Given the description of an element on the screen output the (x, y) to click on. 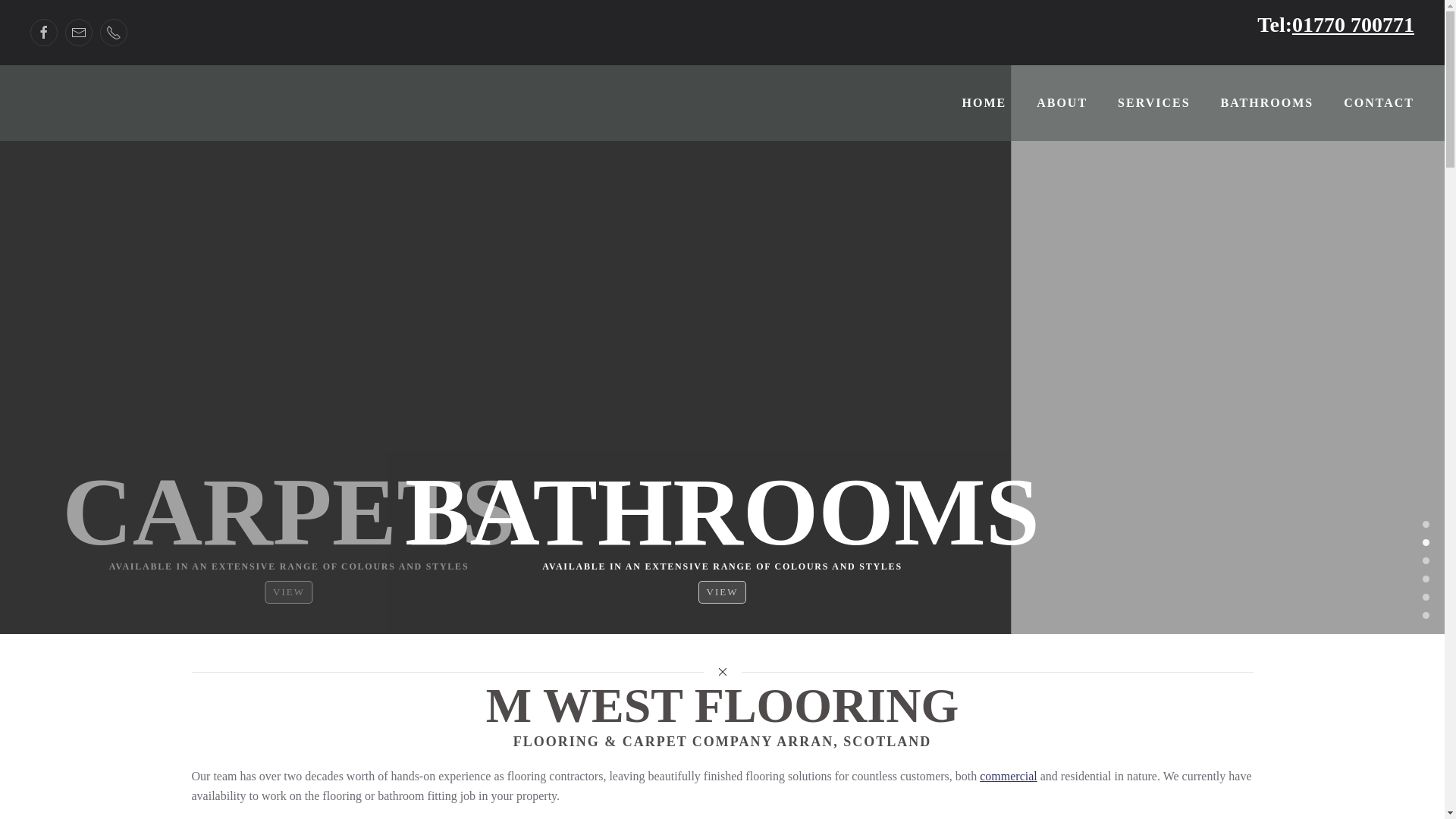
WOOD FLOORING (1425, 595)
CONTACT (1378, 102)
CARPETS (1425, 523)
COMMERCIAL FLOORING (1425, 614)
SERVICES (1153, 102)
VIEW (722, 591)
VIEW (288, 591)
BATHROOMS (1425, 541)
VINYL (1425, 559)
ABOUT (1062, 102)
BATHROOMS (1267, 102)
LAMINATES (1425, 577)
HOME (984, 102)
commercial (1007, 775)
01770 700771 (1352, 24)
